Given the description of an element on the screen output the (x, y) to click on. 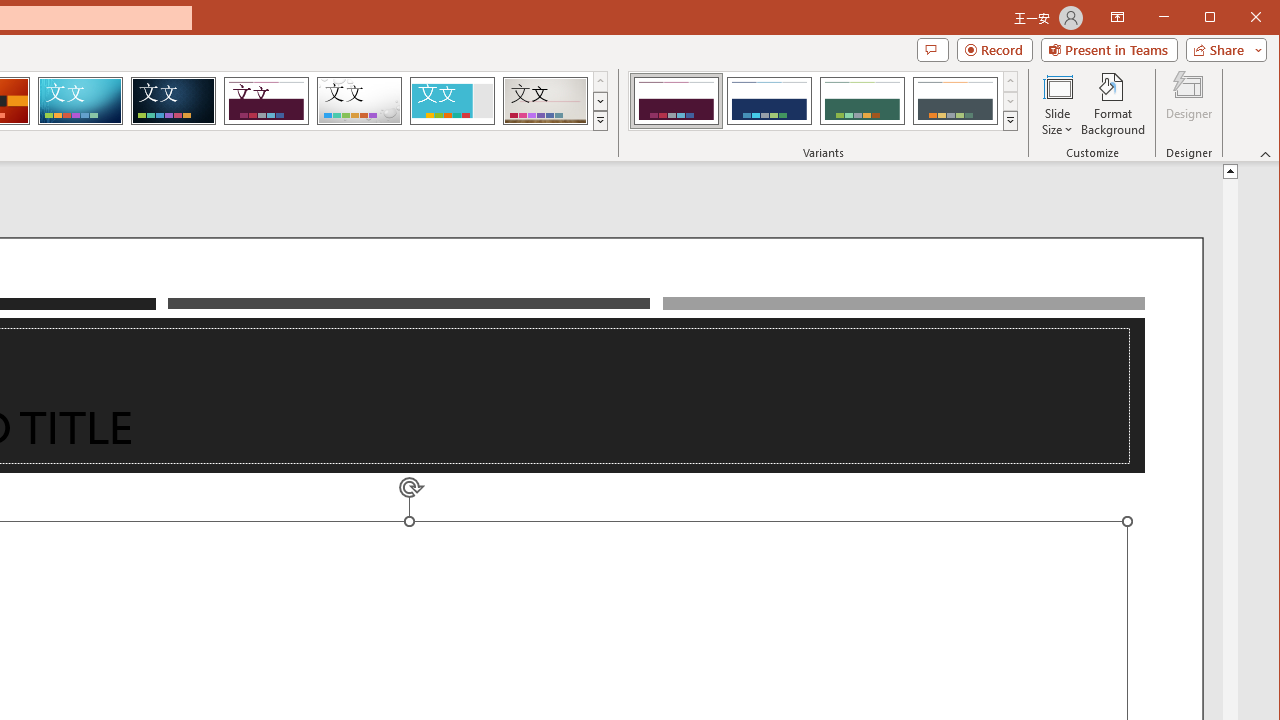
Frame (452, 100)
Circuit (80, 100)
Droplet (359, 100)
Dividend Variant 1 (676, 100)
